Given the description of an element on the screen output the (x, y) to click on. 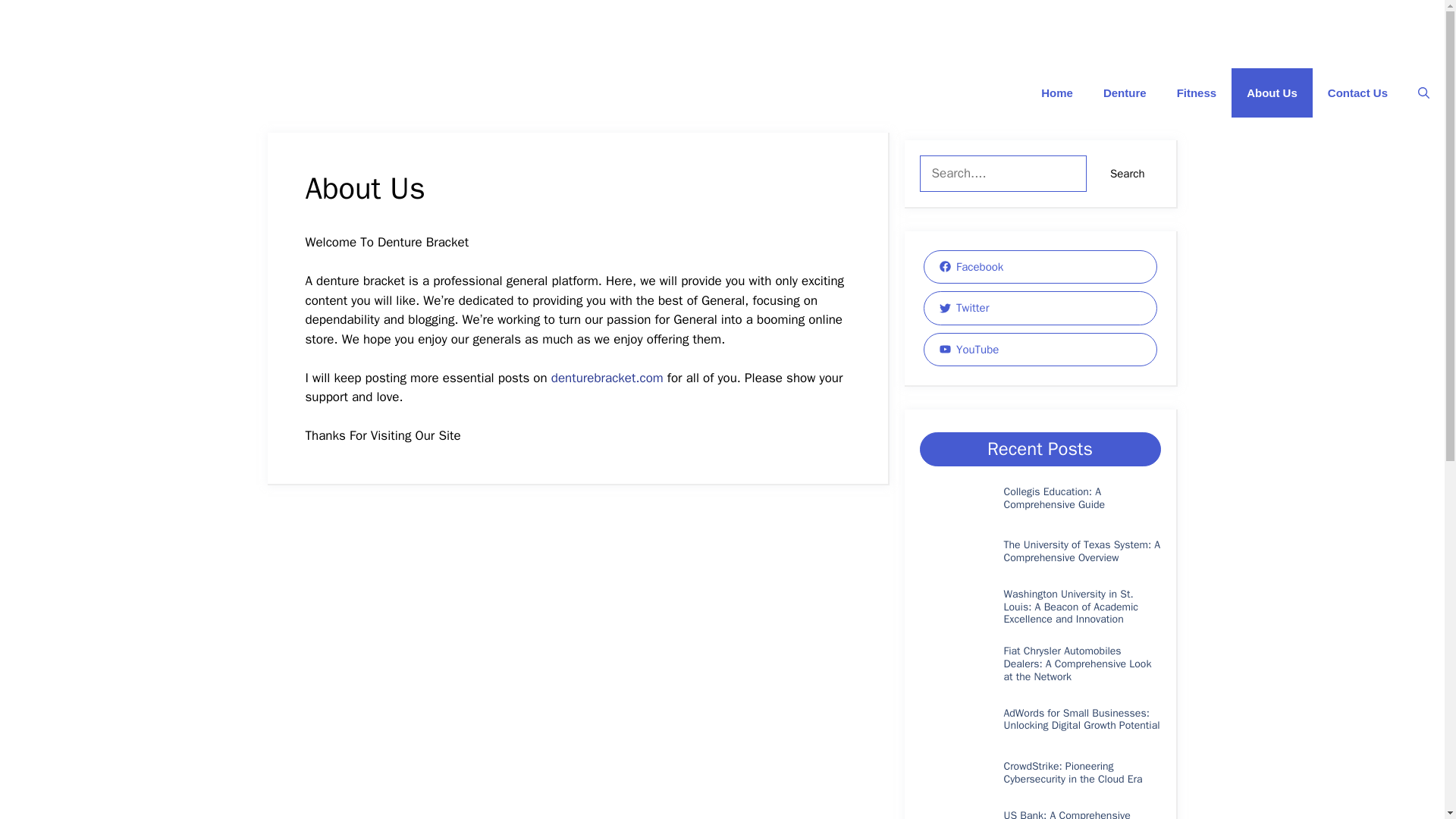
Search (1127, 173)
YouTube (1040, 349)
Collegis Education: A Comprehensive Guide (1054, 498)
Contact Us (1358, 92)
Fitness (1196, 92)
Home (1056, 92)
Smile Confidently with DentureBracket! (88, 92)
About Us (1272, 92)
Facebook (1040, 267)
Denture (1124, 92)
CrowdStrike: Pioneering Cybersecurity in the Cloud Era (1072, 772)
Twitter (1040, 308)
